Given the description of an element on the screen output the (x, y) to click on. 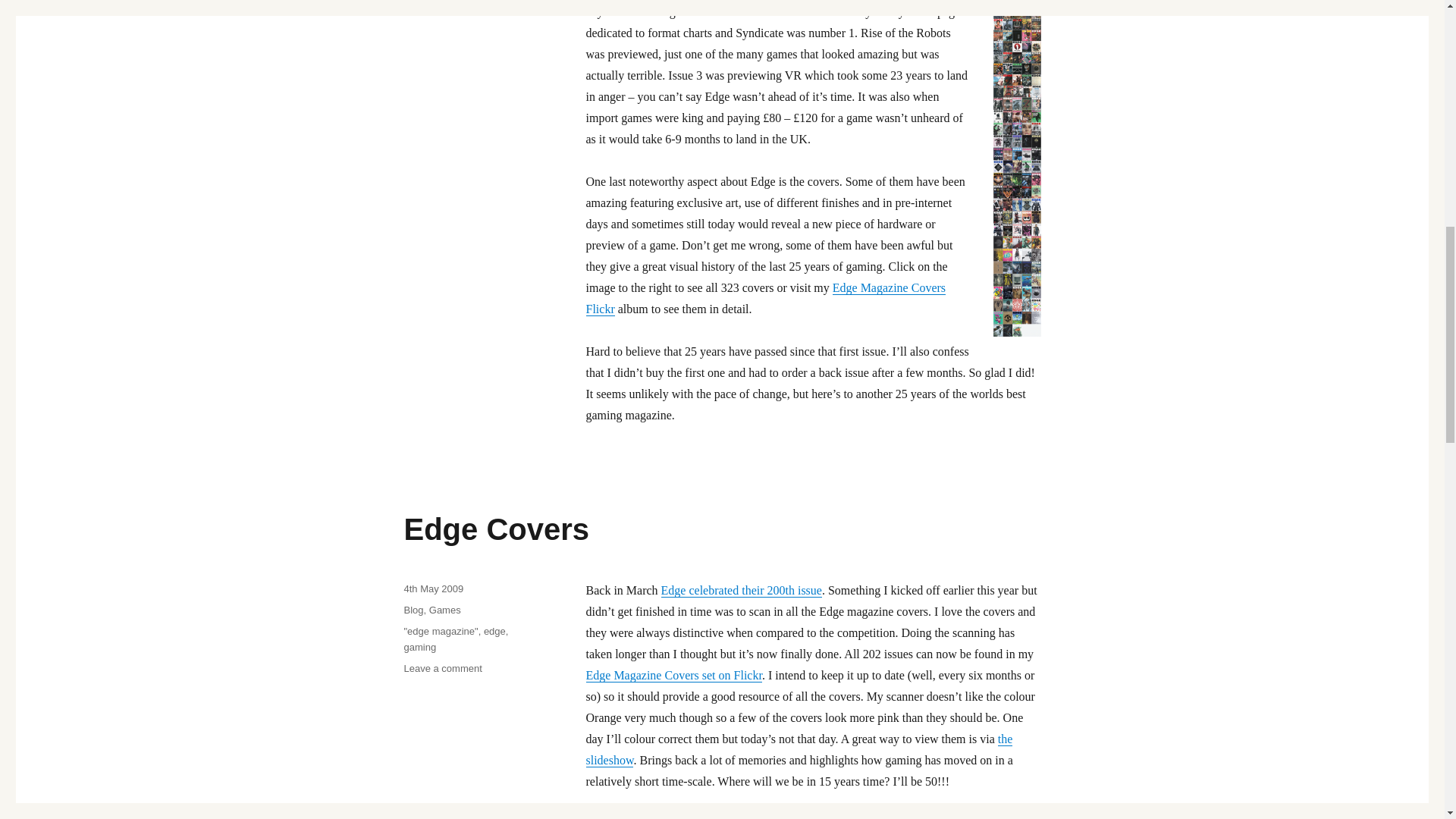
Games (445, 609)
the slideshow (798, 749)
Edge Magazine Covers Flickr (764, 298)
Edge celebrated their 200th issue (741, 590)
Edge Covers (496, 529)
"edge magazine" (440, 631)
Edge Magazine Covers set on Flickr (673, 675)
4th May 2009 (433, 588)
Blog (413, 609)
